Given the description of an element on the screen output the (x, y) to click on. 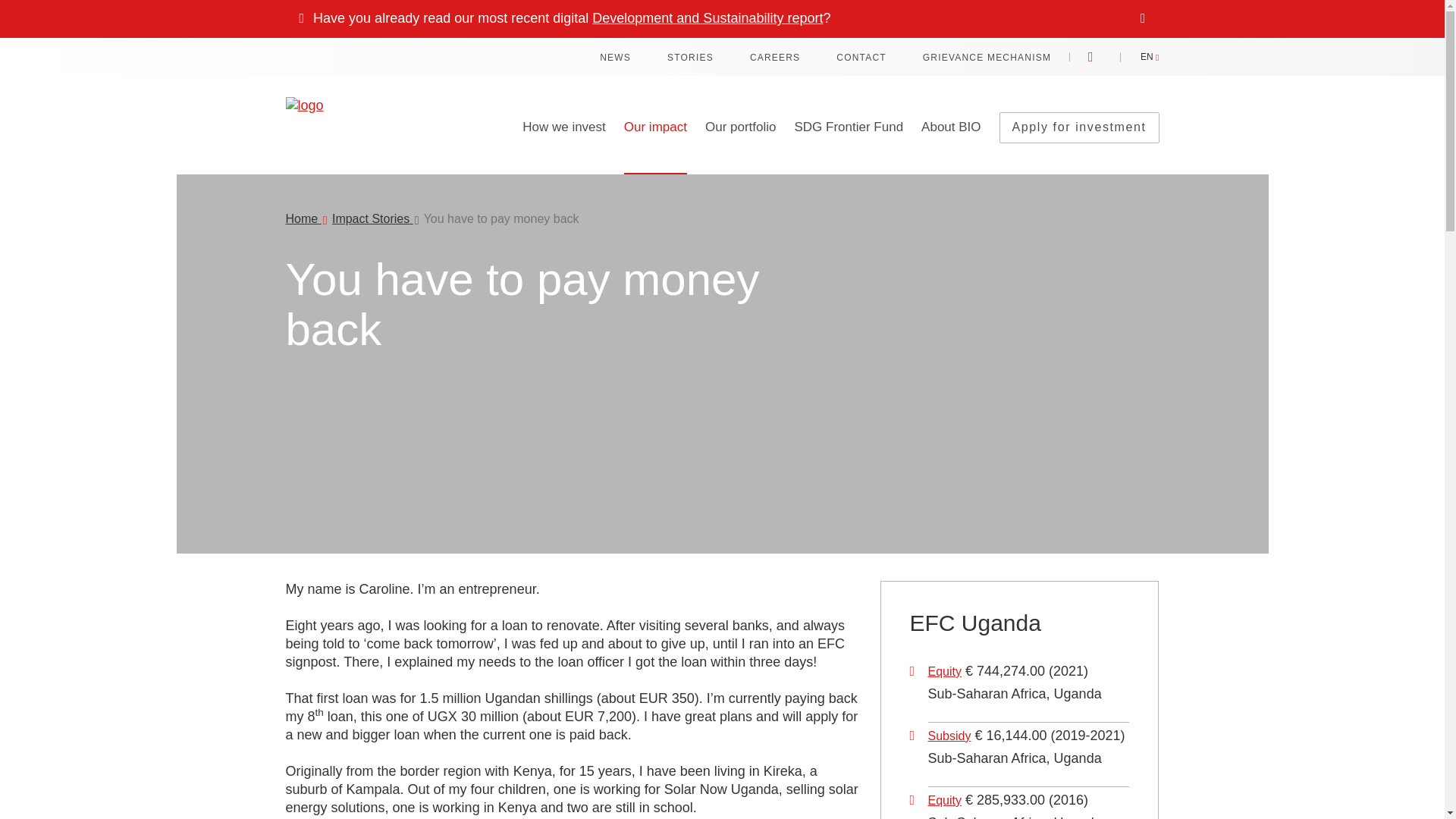
Our impact (655, 144)
NEWS (614, 57)
Development and Sustainability report (707, 17)
How we invest (563, 144)
Impact Stories (372, 218)
GRIEVANCE MECHANISM (987, 57)
CONTACT (860, 57)
STORIES (689, 57)
Apply for investment (1078, 127)
CAREERS (774, 57)
SDG Frontier Fund (849, 144)
Our portfolio (740, 144)
Home (302, 218)
EN (1149, 57)
About BIO (950, 144)
